Given the description of an element on the screen output the (x, y) to click on. 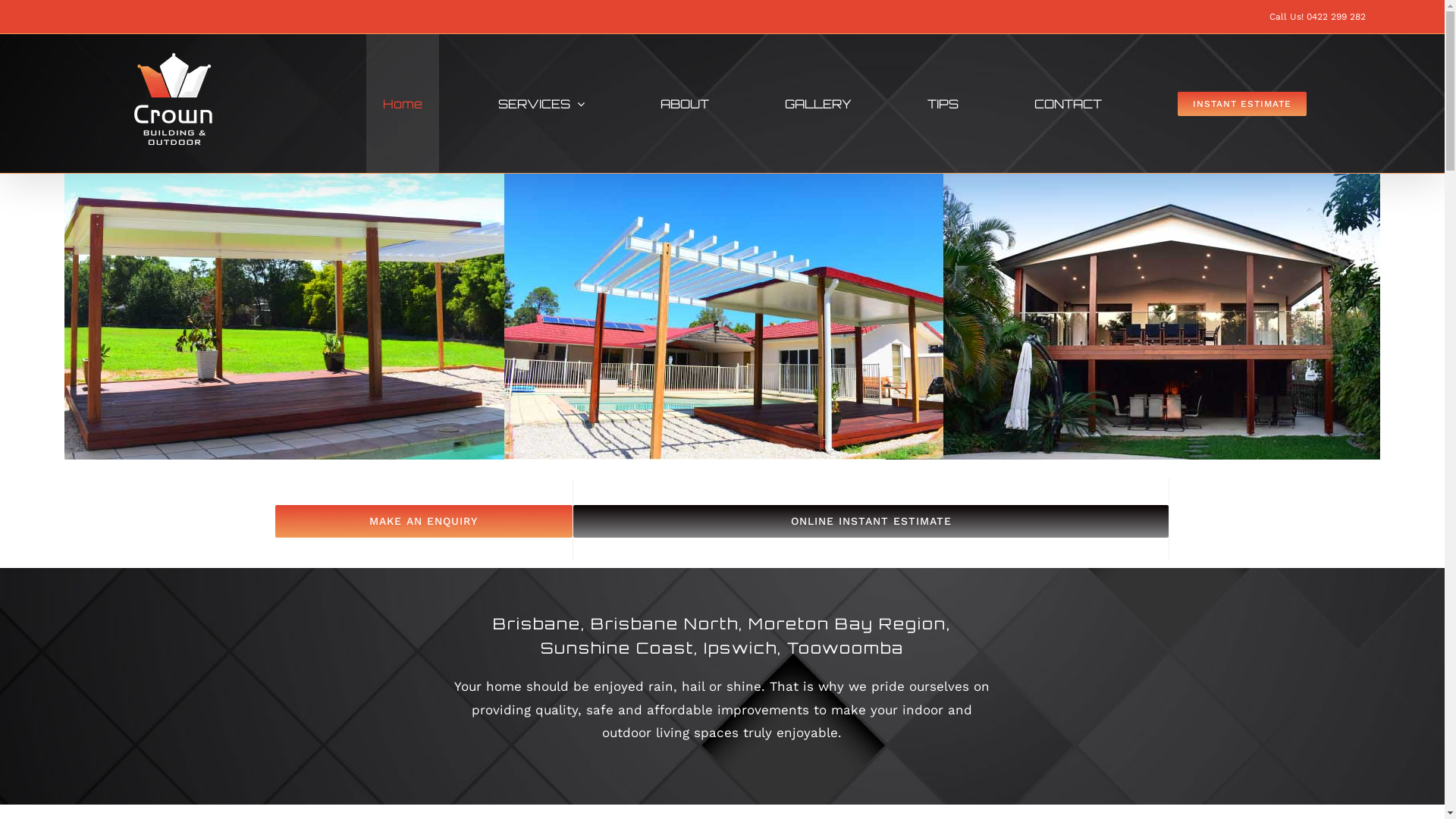
home-banner-crown Element type: hover (722, 316)
ABOUT Element type: text (684, 103)
CONTACT Element type: text (1067, 103)
SERVICES Element type: text (541, 103)
INSTANT ESTIMATE Element type: text (1242, 103)
MAKE AN ENQUIRY Element type: text (422, 521)
Home Element type: text (402, 103)
GALLERY Element type: text (818, 103)
ONLINE INSTANT ESTIMATE Element type: text (871, 521)
TIPS Element type: text (942, 103)
